Given the description of an element on the screen output the (x, y) to click on. 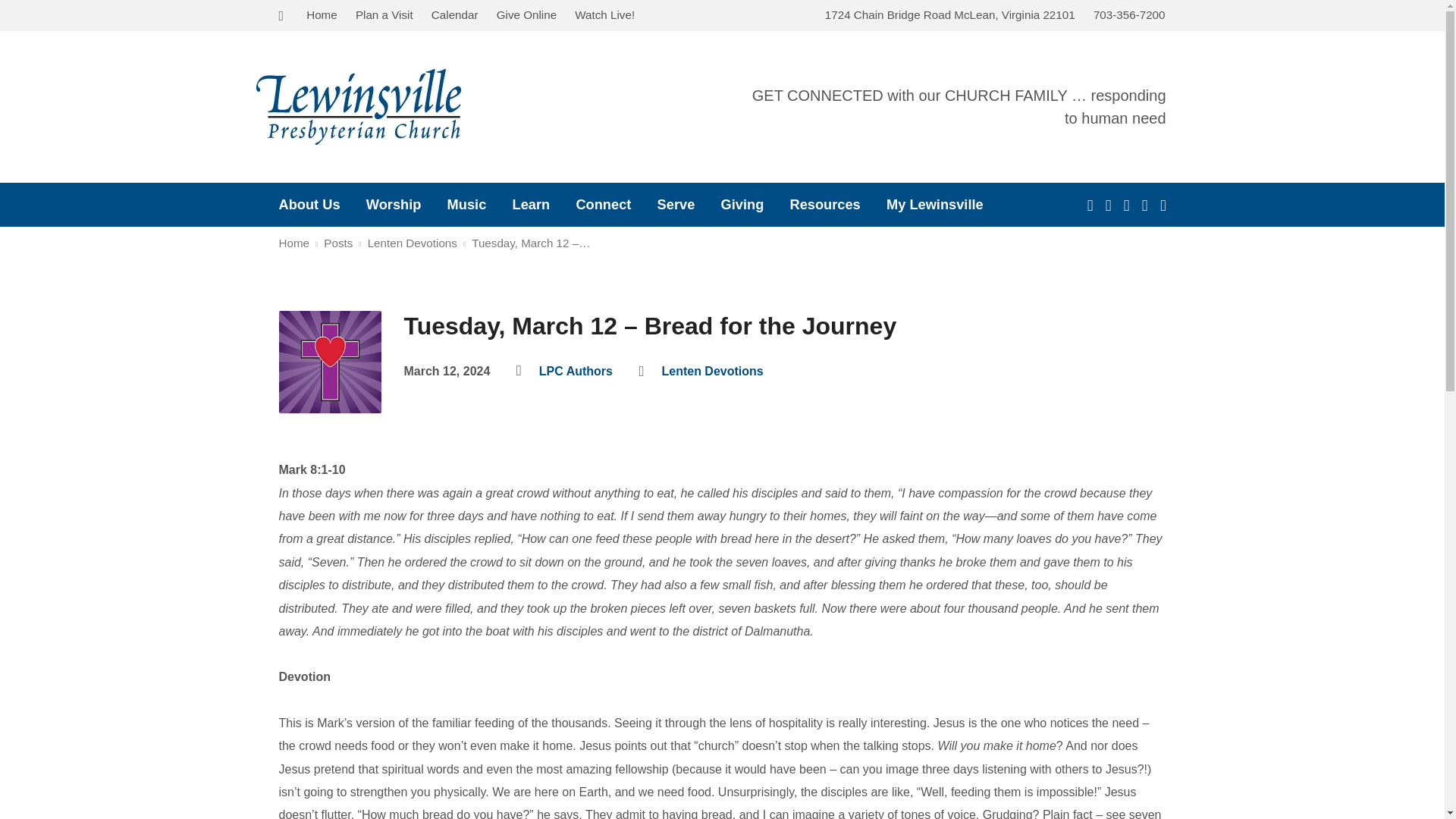
Music (466, 204)
Give Online (526, 14)
Worship (394, 204)
Calendar (454, 14)
Watch Live! (604, 14)
Plan a Visit (384, 14)
1724 Chain Bridge Road McLean, Virginia 22101 (950, 14)
Learn (531, 204)
About Us (309, 204)
Home (321, 14)
